Given the description of an element on the screen output the (x, y) to click on. 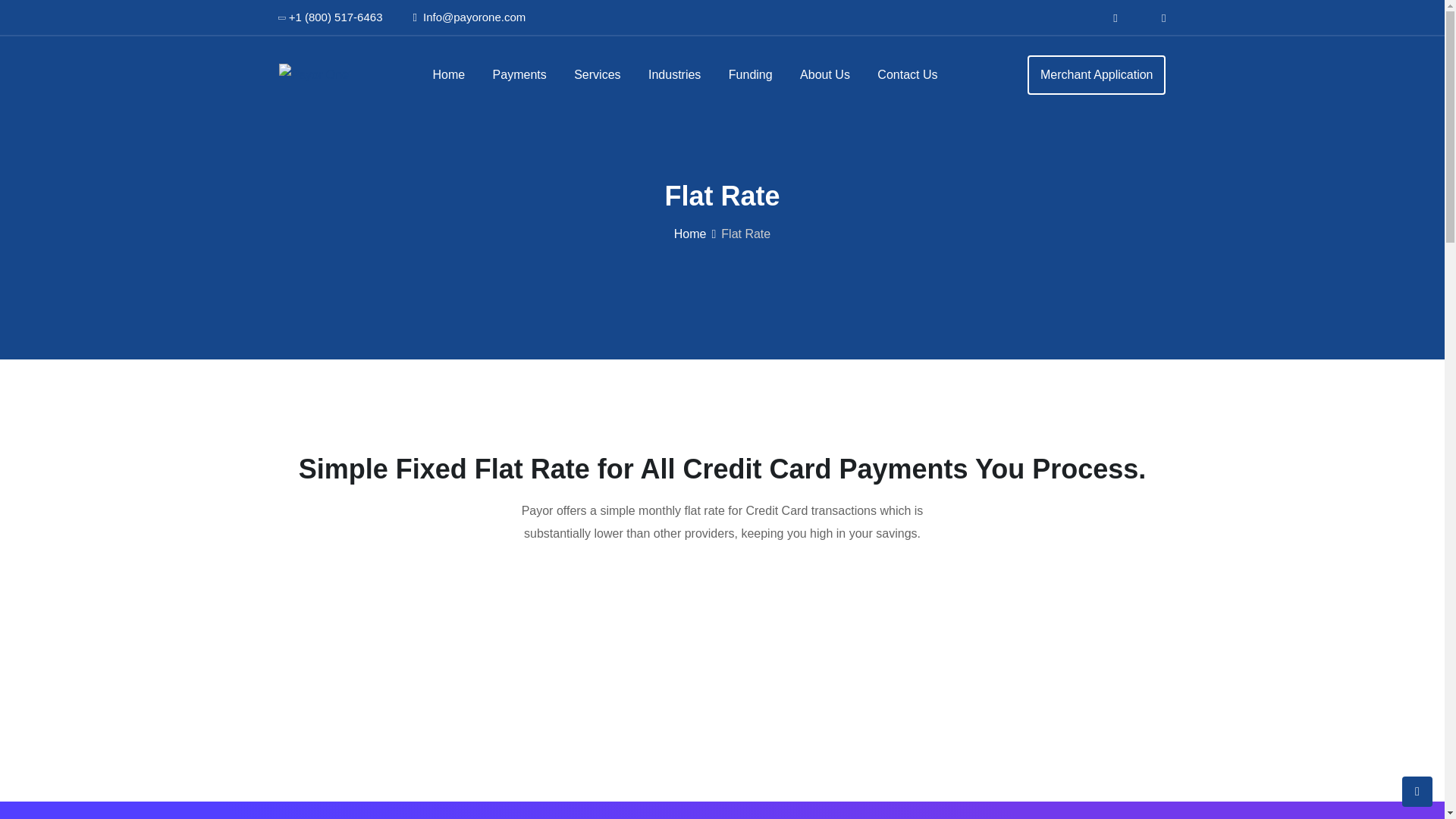
Payments (519, 74)
Industries (674, 74)
Services (596, 74)
Go to Payor One. (690, 233)
